Given the description of an element on the screen output the (x, y) to click on. 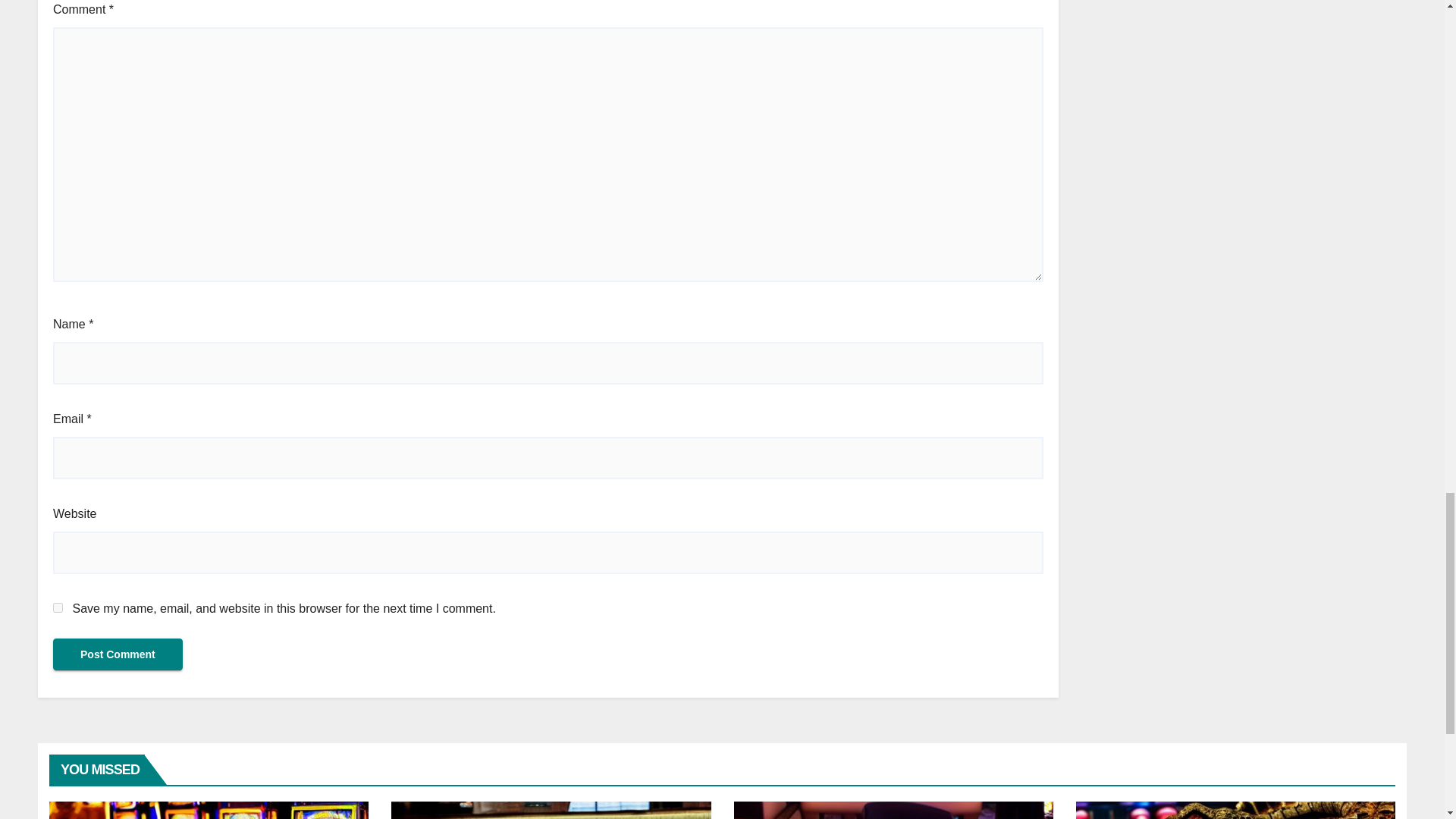
Post Comment (117, 654)
yes (57, 607)
Post Comment (117, 654)
